Given the description of an element on the screen output the (x, y) to click on. 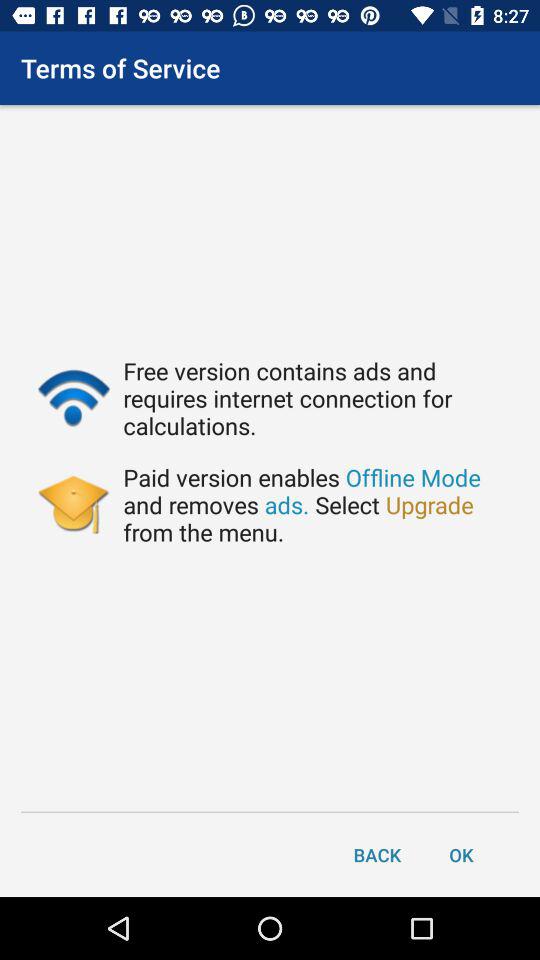
launch icon to the left of ok icon (377, 854)
